Given the description of an element on the screen output the (x, y) to click on. 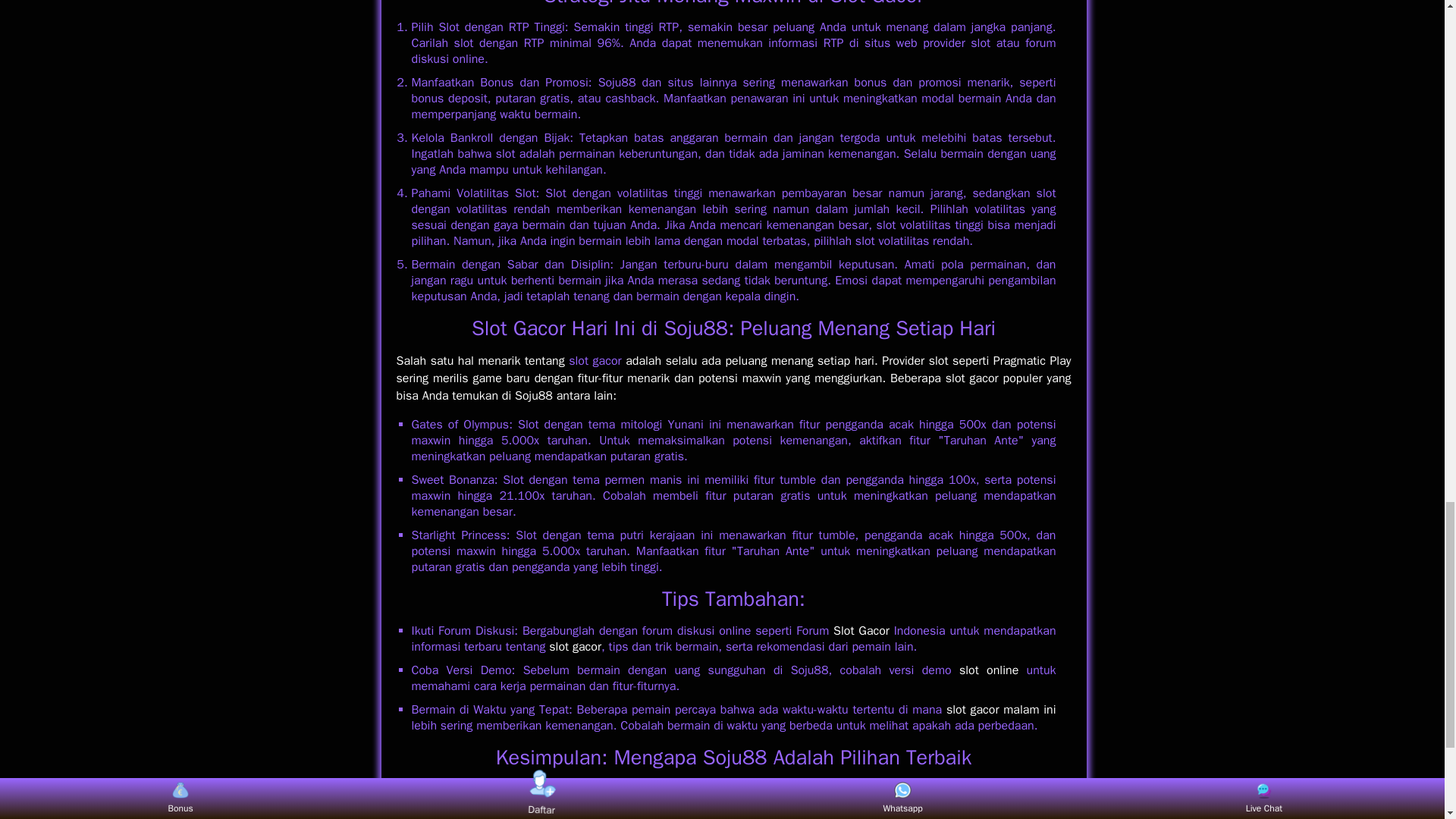
slot gacor malam ini (1001, 709)
Slot Gacor (876, 4)
slot online (988, 670)
slot gacor (595, 360)
Slot Gacor (860, 630)
Slot Gacor (518, 328)
slot gacor (574, 646)
